Given the description of an element on the screen output the (x, y) to click on. 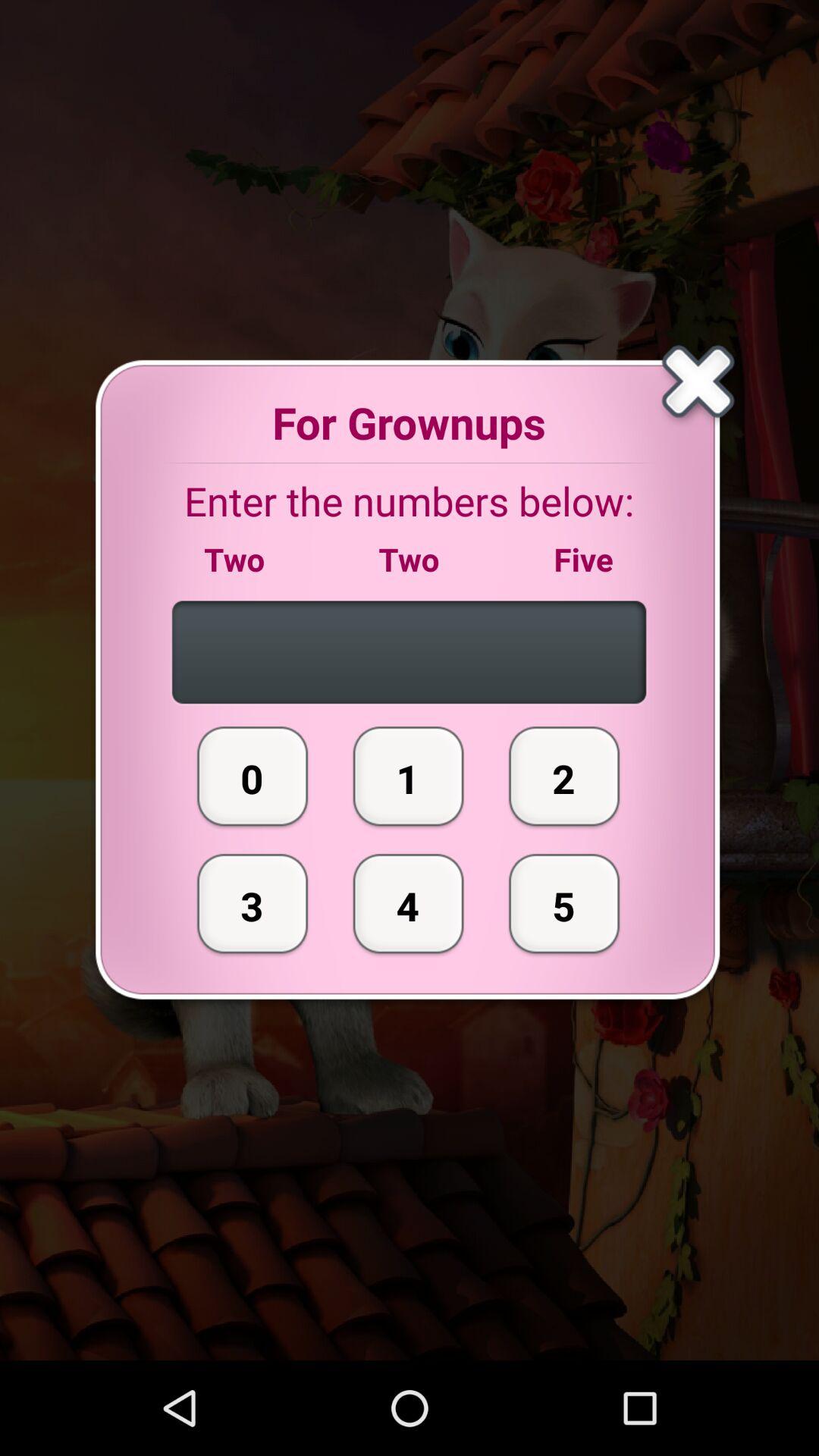
choose the item above 5 icon (564, 776)
